Given the description of an element on the screen output the (x, y) to click on. 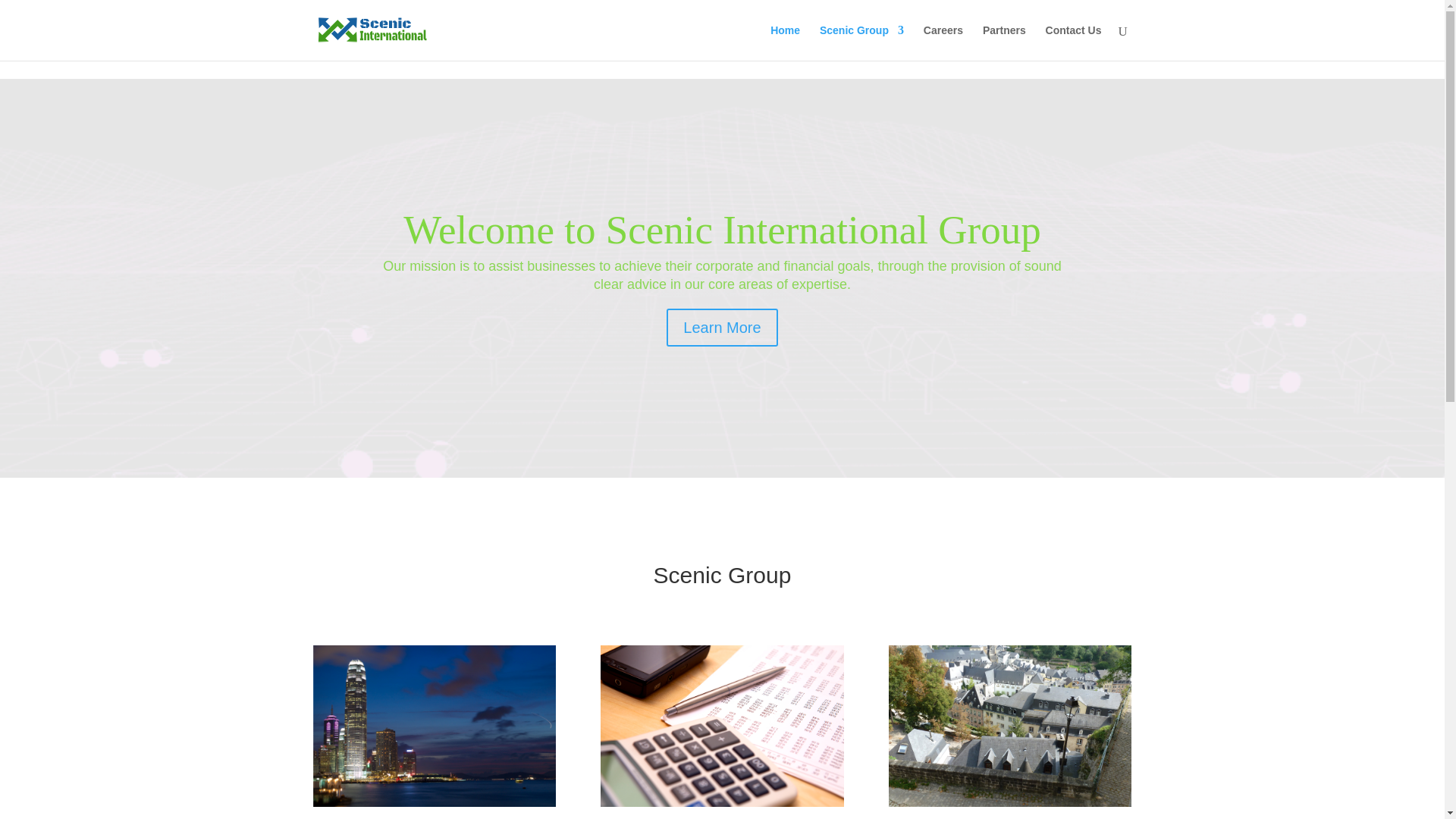
Contact Us (1073, 42)
Learn More (721, 367)
Careers (942, 42)
Scenic Group (861, 42)
Partners (1004, 42)
Home (784, 42)
